Given the description of an element on the screen output the (x, y) to click on. 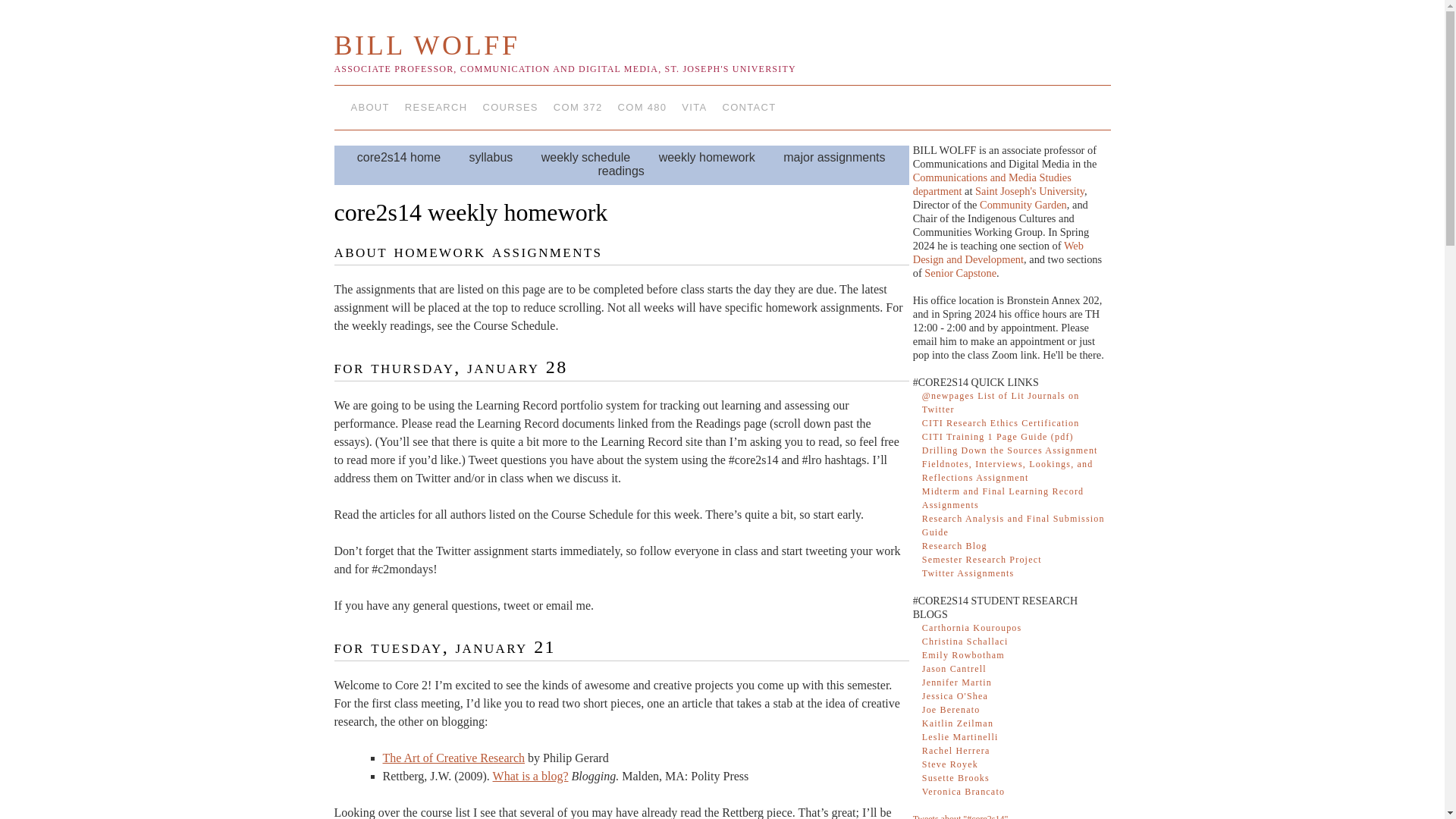
Drilling Down the Sources Assignment (1009, 450)
Saint Joseph's University (1029, 191)
weekly homework (707, 157)
Senior Capstone (959, 272)
BILL WOLFF (426, 45)
syllabus (491, 157)
major assignments (834, 157)
VITA (694, 107)
Communications and Media Studies department (991, 184)
COM 480 (642, 107)
